Given the description of an element on the screen output the (x, y) to click on. 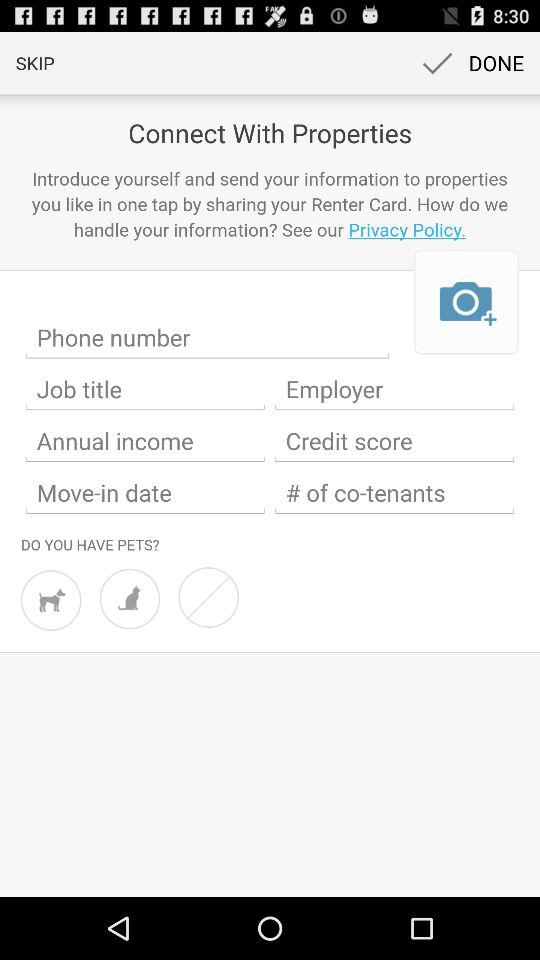
select cats (129, 598)
